Given the description of an element on the screen output the (x, y) to click on. 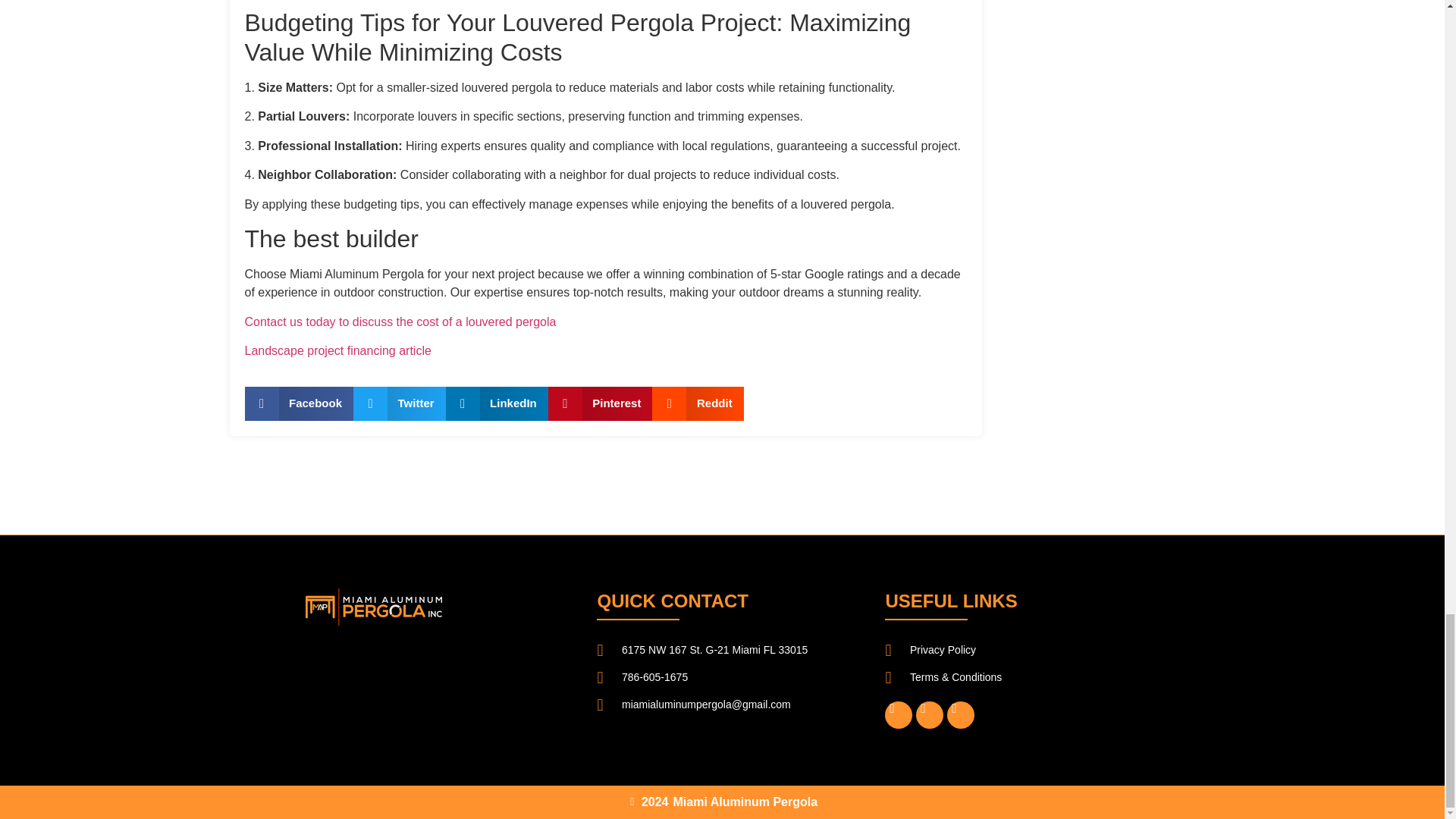
Privacy Policy (1010, 650)
Landscape project financing article (337, 350)
786-605-1675 (721, 677)
2024 (647, 802)
Contact us today to discuss the cost of a louvered pergola (400, 321)
